Given the description of an element on the screen output the (x, y) to click on. 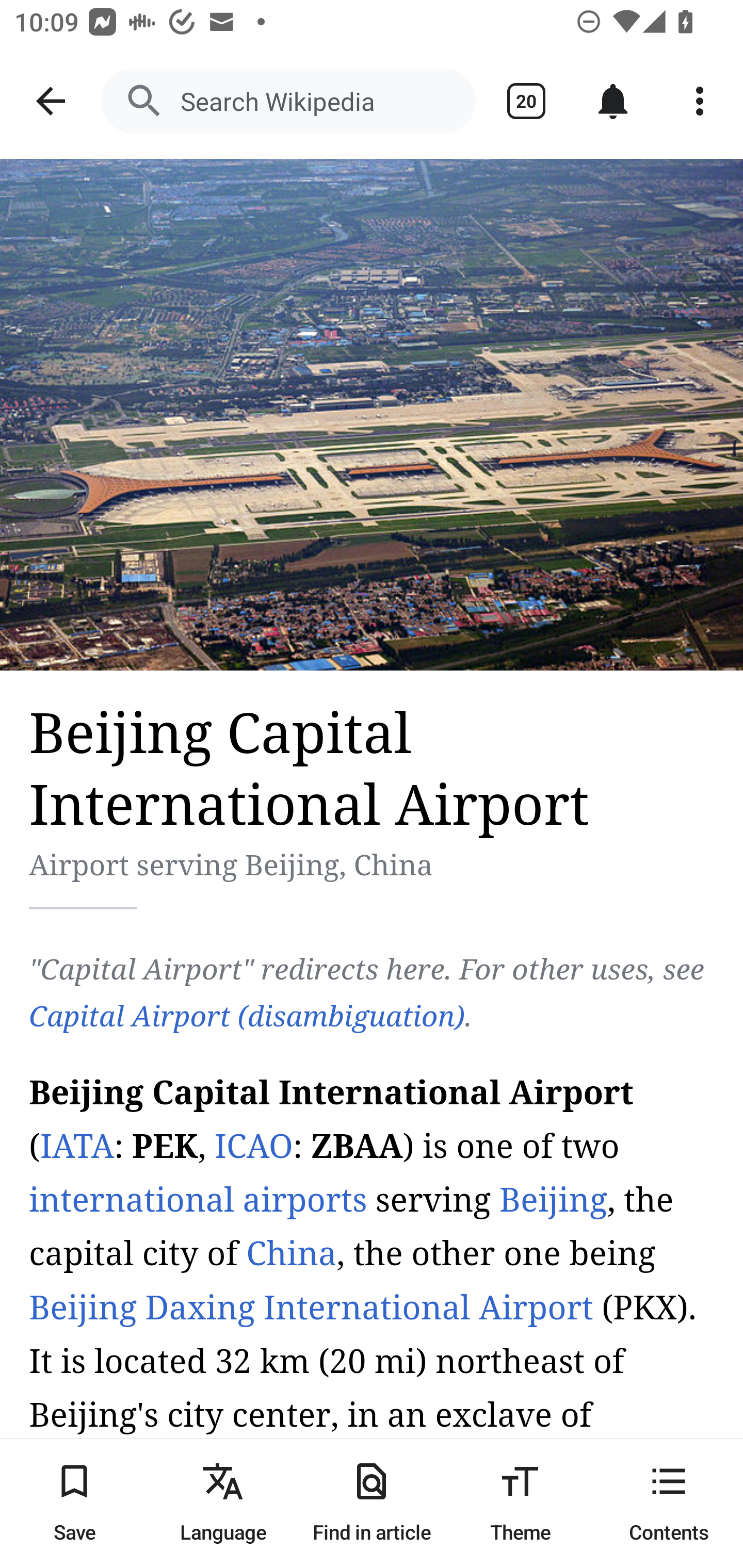
Show tabs 20 (525, 100)
Notifications (612, 100)
Navigate up (50, 101)
More options (699, 101)
Search Wikipedia (288, 100)
Image: Beijing Capital International Airport (371, 414)
Capital Airport (disambiguation) (246, 1017)
IATA (77, 1145)
ICAO (253, 1145)
international airports (198, 1199)
Beijing (553, 1199)
China (291, 1254)
Beijing Daxing International Airport (310, 1308)
Save (74, 1502)
Language (222, 1502)
Find in article (371, 1502)
Theme (519, 1502)
Contents (668, 1502)
